Given the description of an element on the screen output the (x, y) to click on. 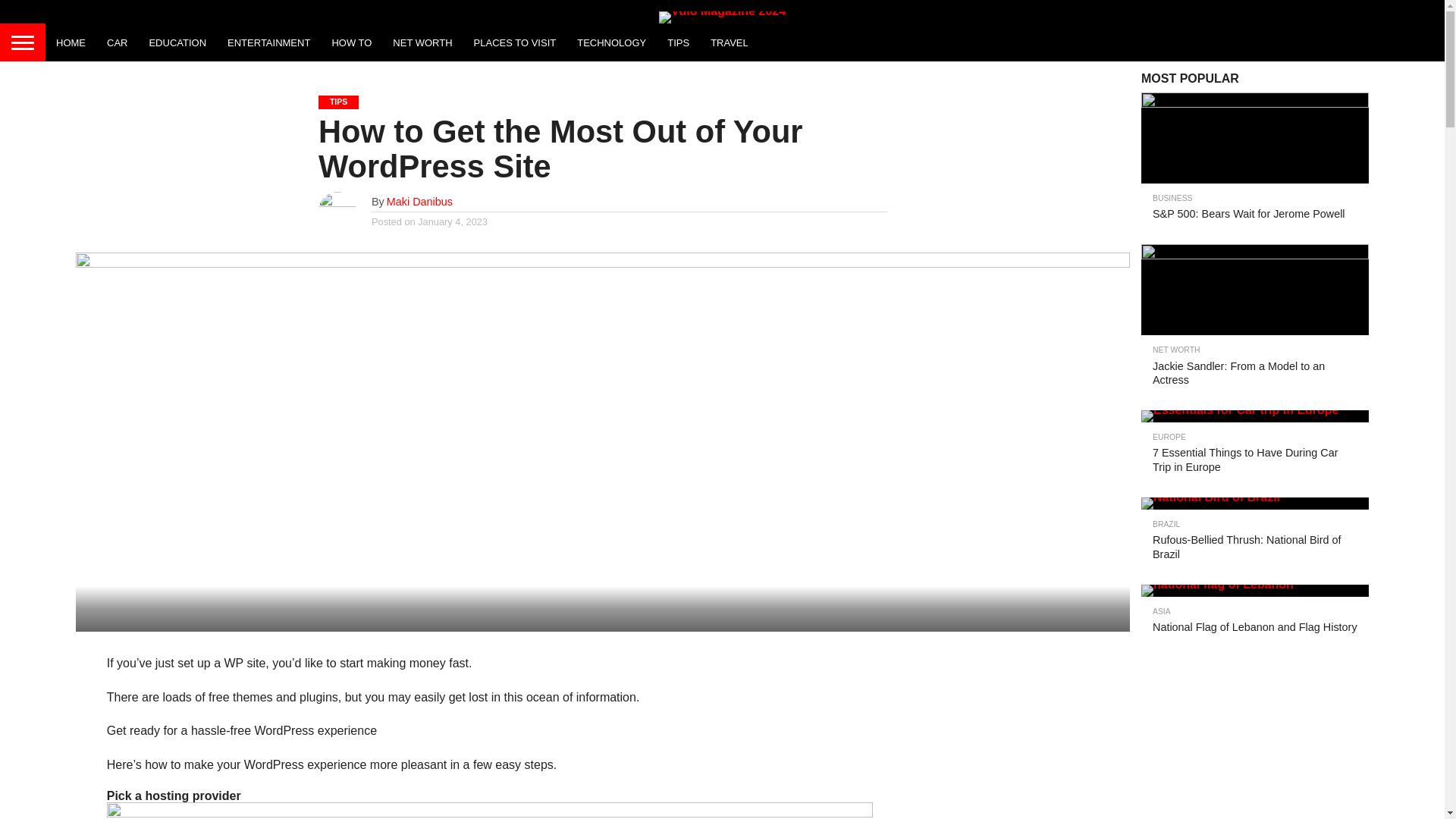
HOW TO (350, 42)
HOME (70, 42)
Posts by Maki Danibus (419, 201)
CAR (117, 42)
ENTERTAINMENT (268, 42)
NET WORTH (422, 42)
PLACES TO VISIT (515, 42)
TRAVEL (729, 42)
Maki Danibus (419, 201)
EDUCATION (177, 42)
TIPS (678, 42)
TECHNOLOGY (611, 42)
